Given the description of an element on the screen output the (x, y) to click on. 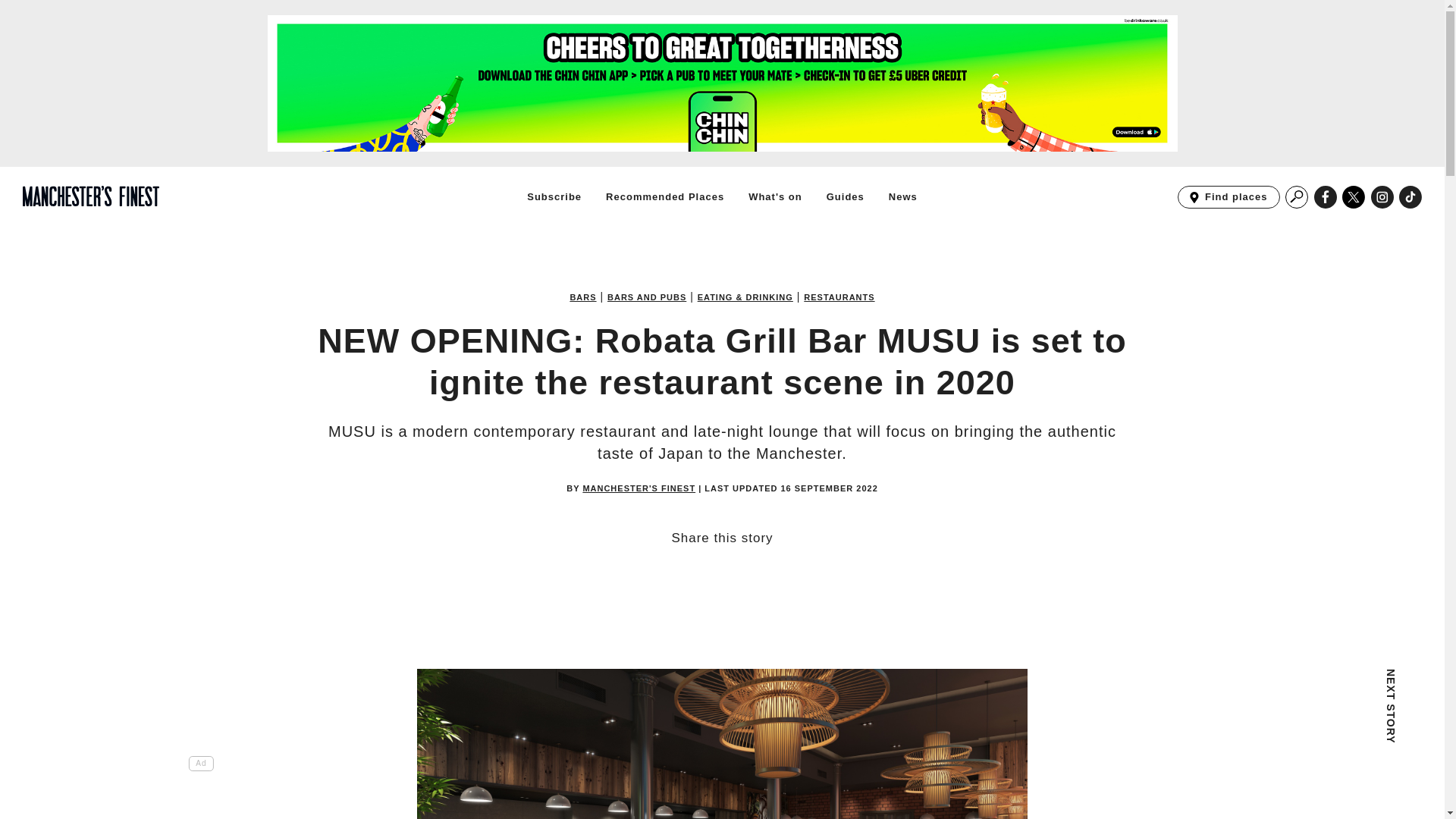
MANCHESTER'S FINEST (638, 487)
Search Manchester's Finest (1228, 196)
Go to Manchester's Finest Instagram profile (1296, 196)
What's on (1382, 196)
NEXT STORY (775, 196)
Go to Manchester's Finest TikTok profile (1297, 744)
News (1410, 196)
Go to Manchester's Finest X profile (902, 196)
Go to Manchester's Finest Facebook page (1353, 196)
